Given the description of an element on the screen output the (x, y) to click on. 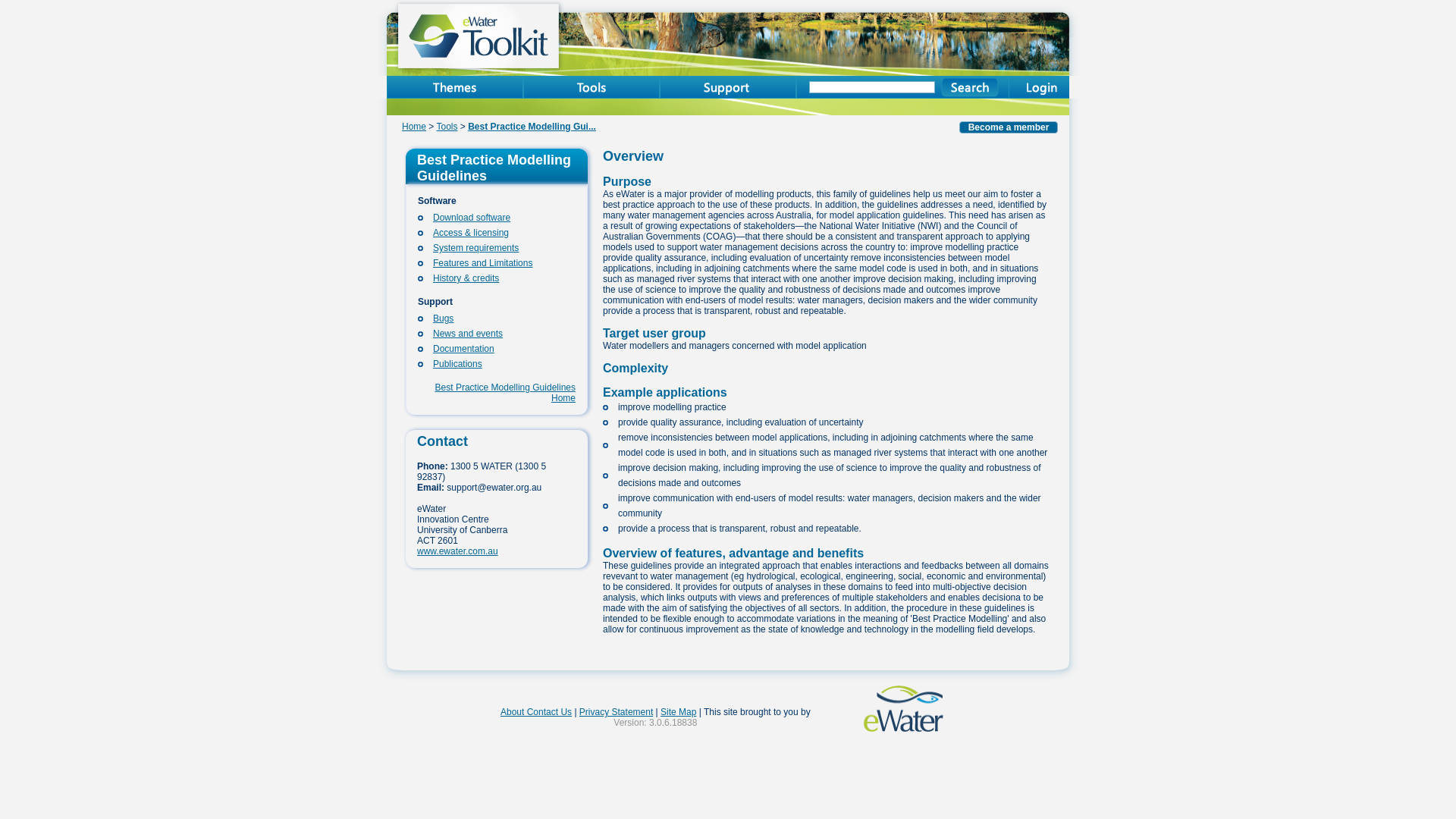
Search button Element type: hover (970, 86)
Find out more about eWater research and development Element type: hover (908, 728)
Tools Element type: text (446, 126)
Features and Limitations Element type: text (482, 262)
News and events Element type: text (467, 333)
History & credits Element type: text (465, 278)
Access & licensing Element type: text (470, 232)
Home Element type: text (413, 126)
Documentation Element type: text (463, 348)
Download software Element type: text (471, 217)
Publications Element type: text (457, 363)
www.ewater.com.au Element type: text (457, 551)
Become a member Element type: text (1008, 127)
Best Practice Modelling Guidelines Home Element type: text (505, 392)
Privacy Statement Element type: text (615, 711)
Toolkit Home Element type: text (528, 45)
Best Practice Modelling Gui... Element type: text (531, 126)
Site Map Element type: text (678, 711)
Bugs Element type: text (443, 318)
System requirements Element type: text (475, 247)
About Contact Us Element type: text (535, 711)
